Given the description of an element on the screen output the (x, y) to click on. 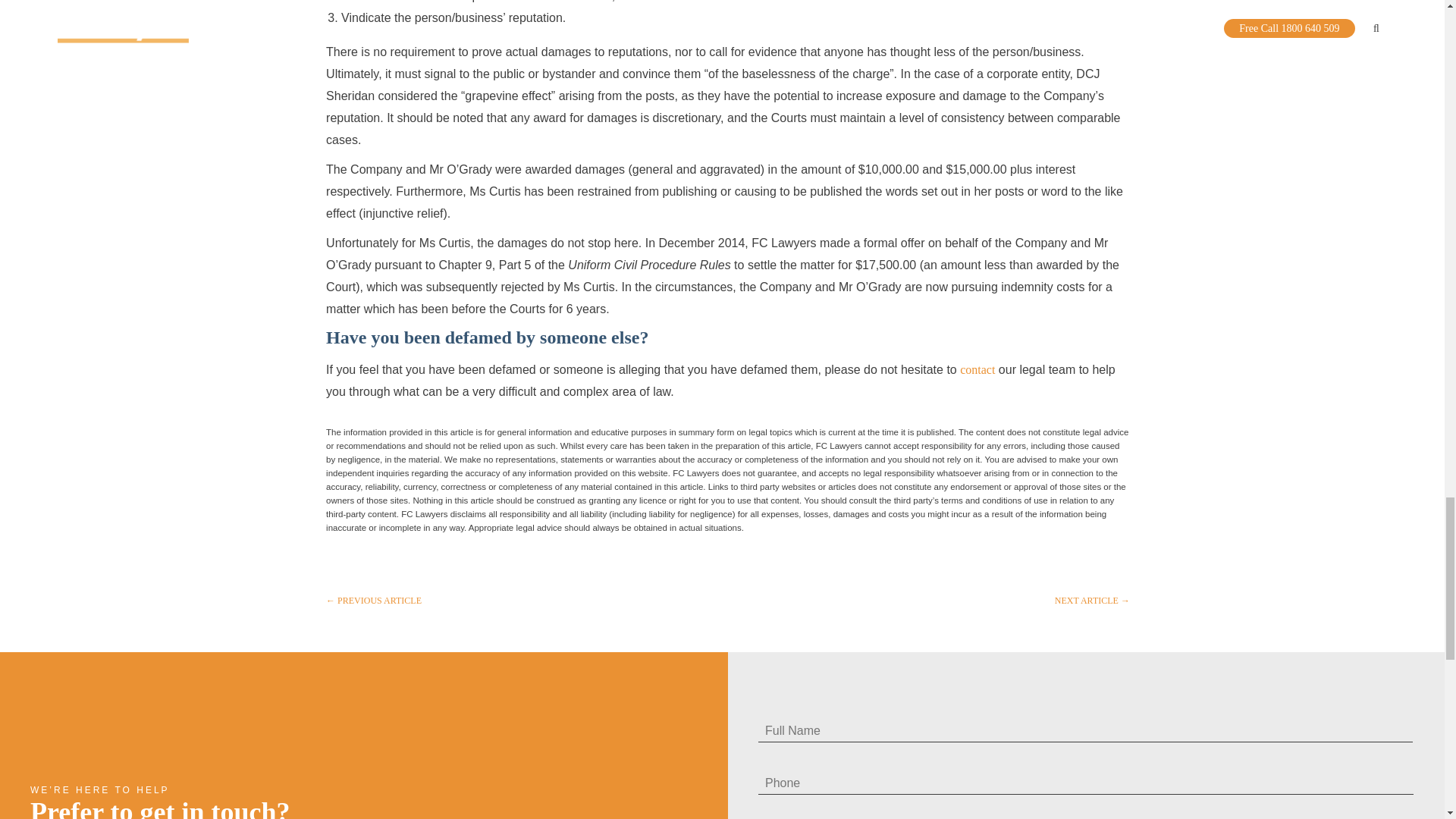
contact (976, 369)
